Given the description of an element on the screen output the (x, y) to click on. 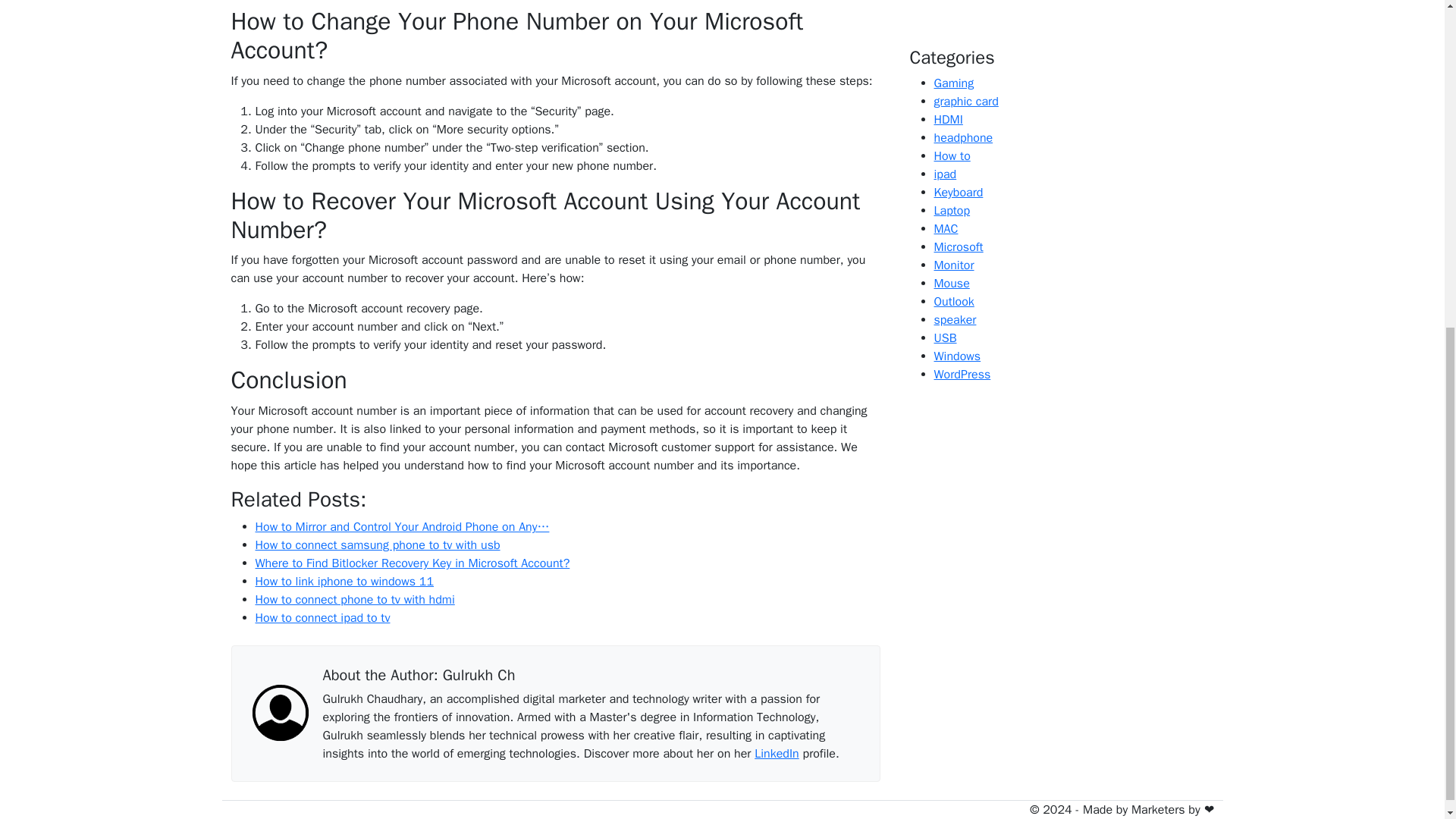
Monitor (954, 264)
How to (952, 155)
Mouse (951, 283)
MAC (946, 228)
How to connect samsung phone to tv with usb (376, 544)
ipad (945, 174)
How to connect phone to tv with hdmi (354, 599)
headphone (963, 137)
Where to Find Bitlocker Recovery Key in Microsoft Account? (411, 563)
HDMI (948, 119)
speaker (955, 319)
Outlook (954, 301)
Keyboard (959, 192)
How to connect ipad to tv (322, 617)
Gaming (954, 83)
